Given the description of an element on the screen output the (x, y) to click on. 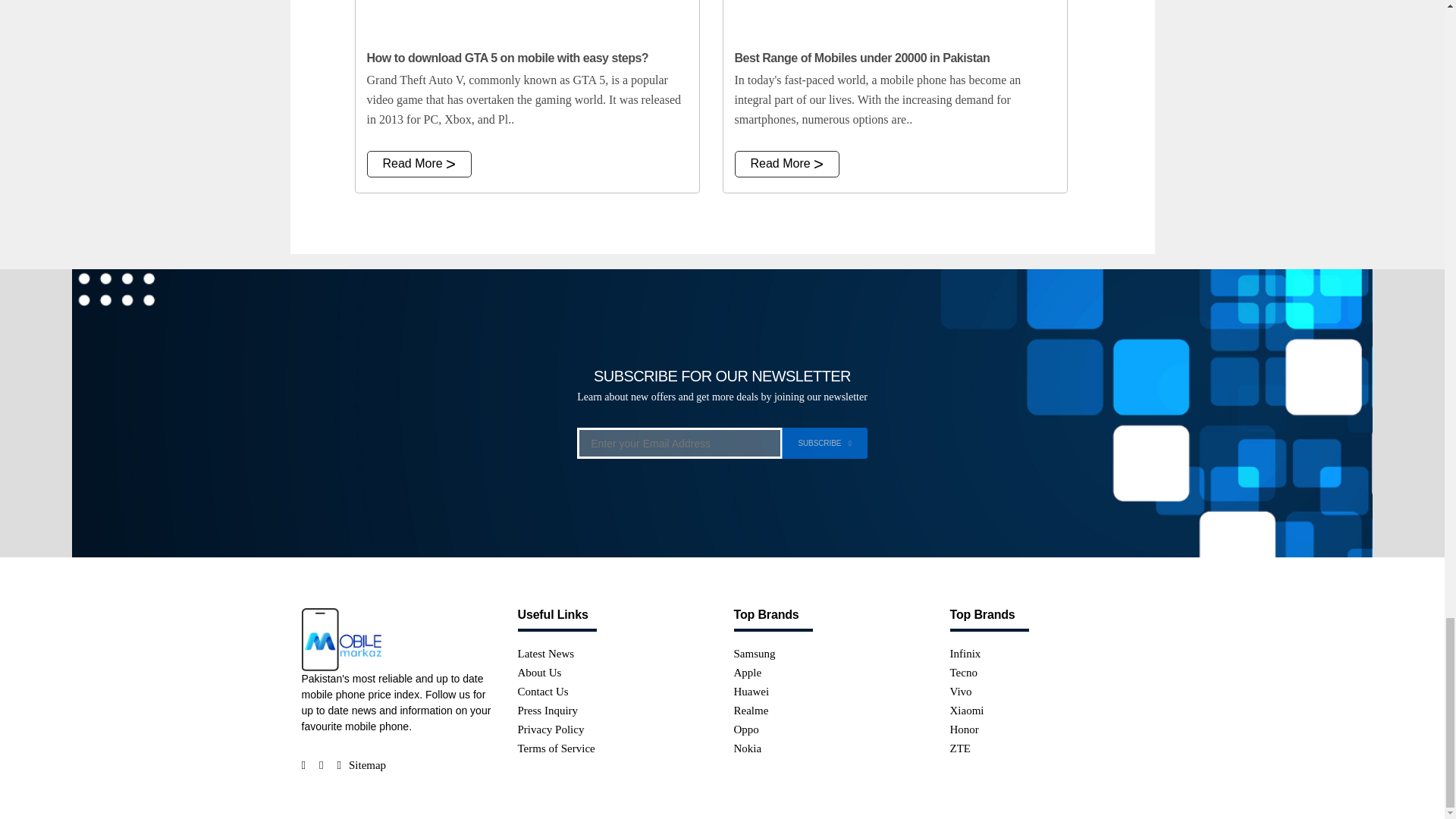
How to download GTA 5 on mobile with easy steps? (526, 20)
SiteMap (367, 765)
Best Range of Mobiles under 20000 in Pakistan (895, 20)
